Given the description of an element on the screen output the (x, y) to click on. 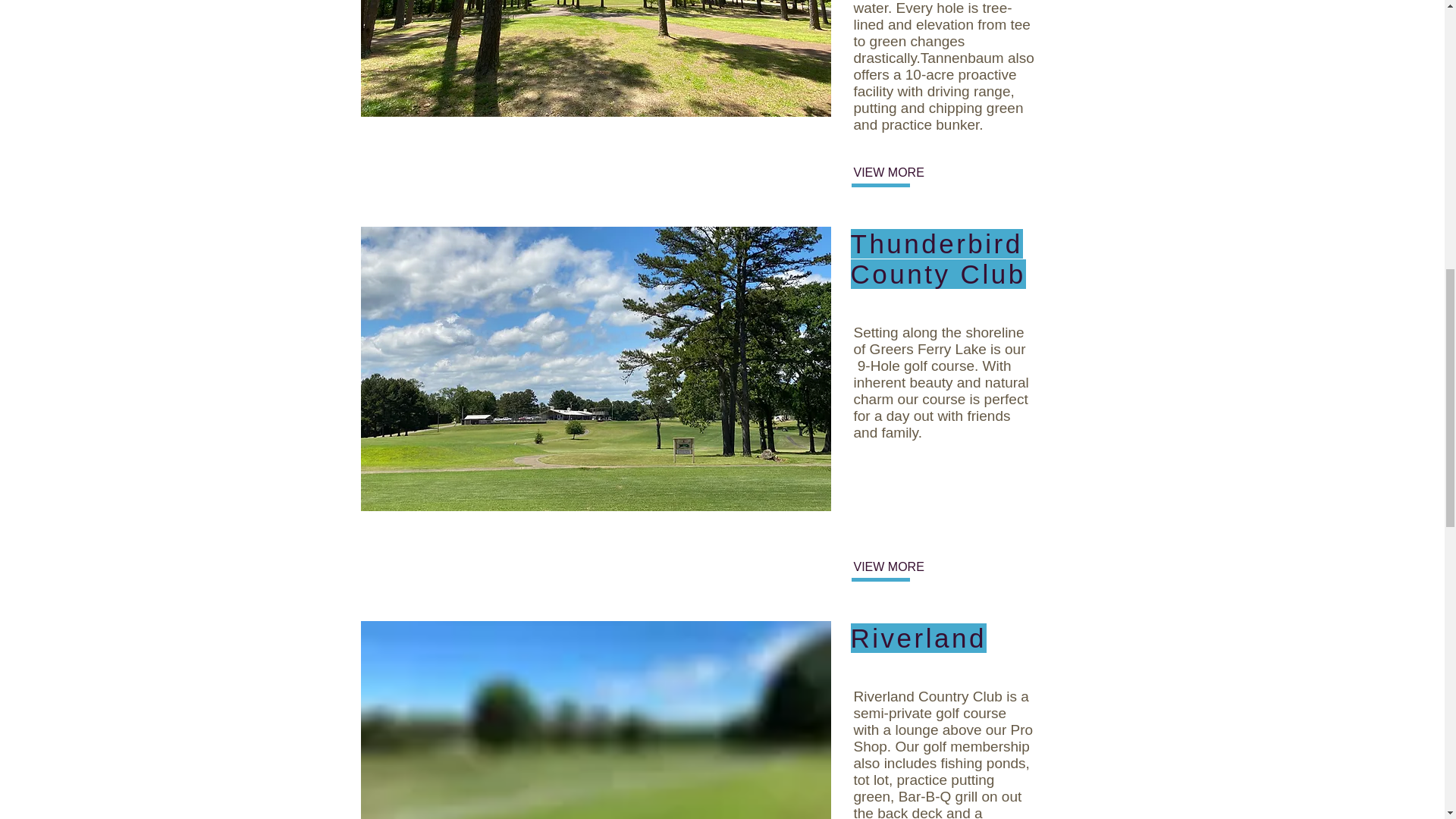
VIEW MORE (903, 172)
VIEW MORE (903, 567)
